Given the description of an element on the screen output the (x, y) to click on. 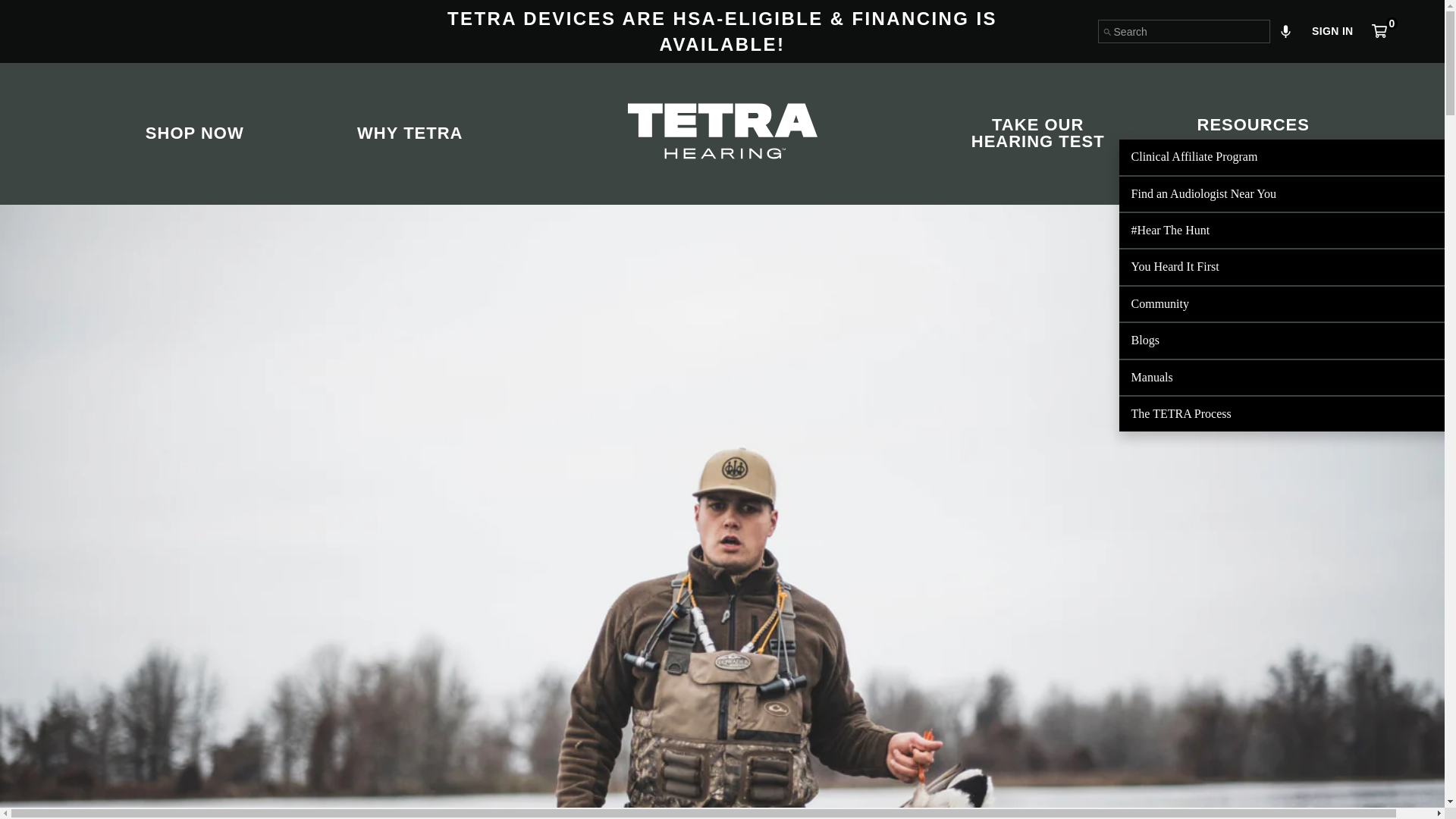
0 (1385, 33)
SIGN IN (1332, 30)
WHY TETRA (409, 133)
RESOURCES (1253, 125)
SHOP NOW (193, 133)
